Given the description of an element on the screen output the (x, y) to click on. 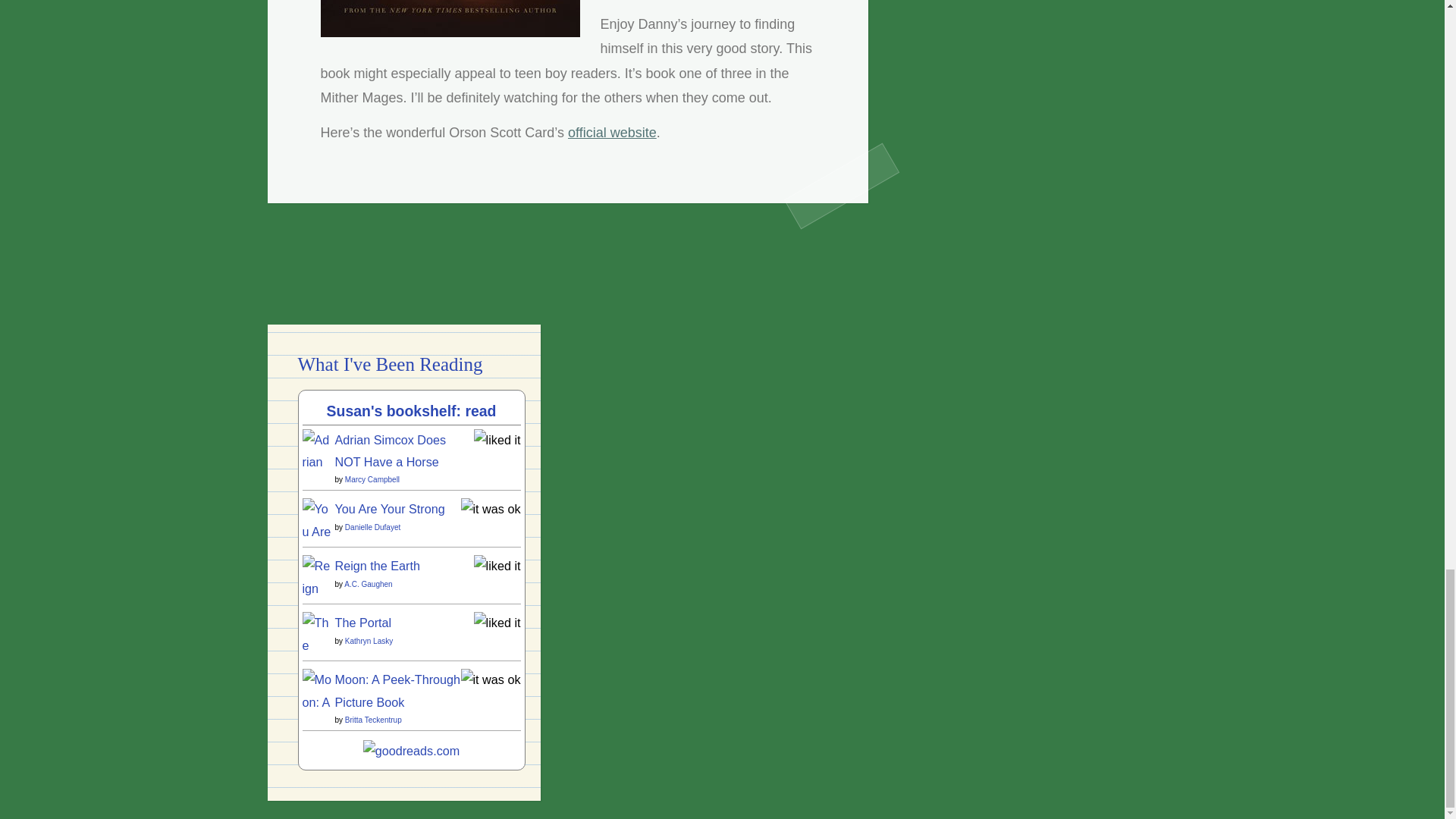
liked it (497, 439)
You Are Your Strong (316, 597)
liked it (497, 565)
it was ok (491, 508)
official website (611, 132)
Adrian Simcox Does NOT Have a Horse (316, 639)
